Given the description of an element on the screen output the (x, y) to click on. 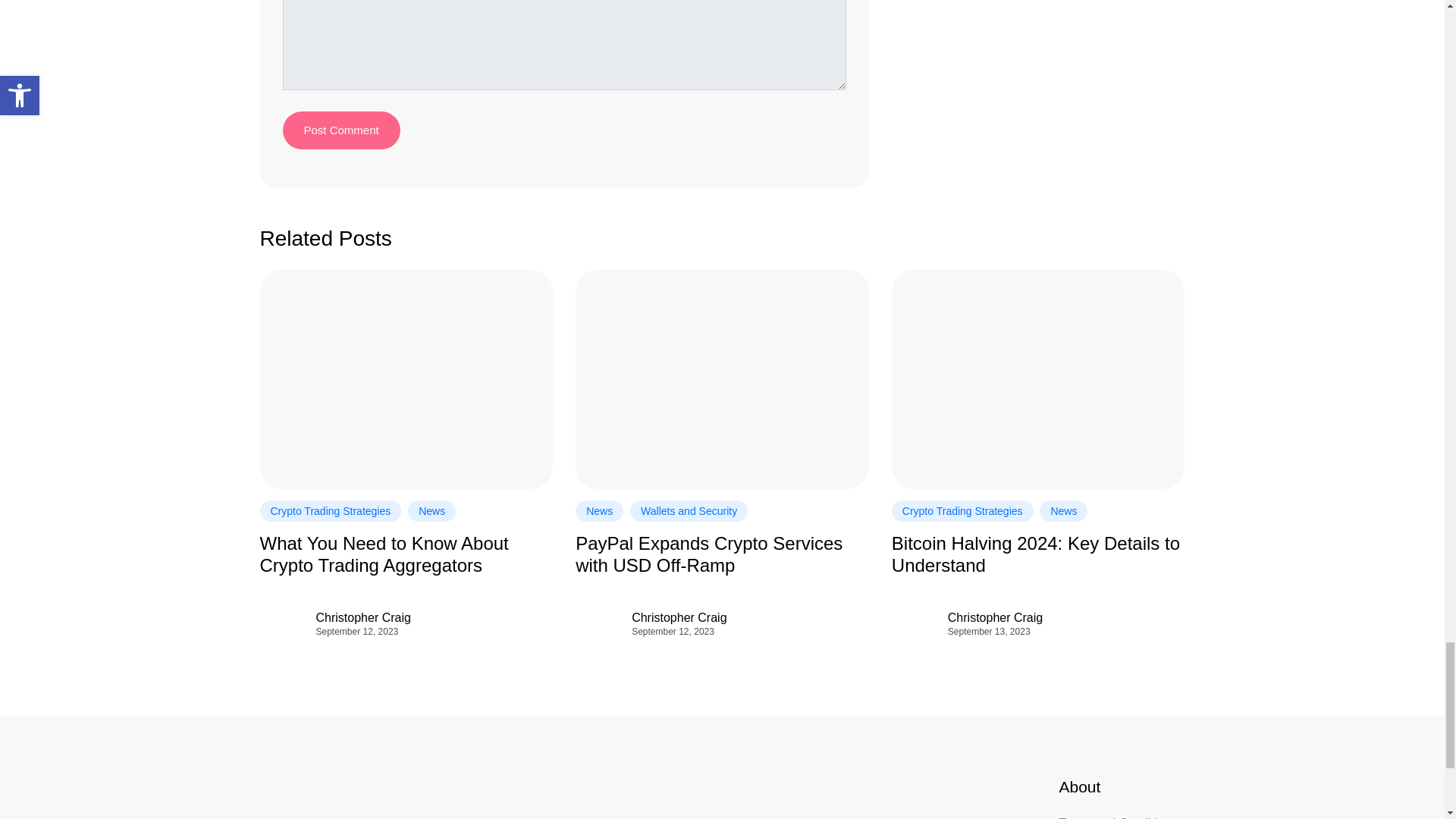
Post Comment (340, 130)
Post Comment (340, 130)
